Given the description of an element on the screen output the (x, y) to click on. 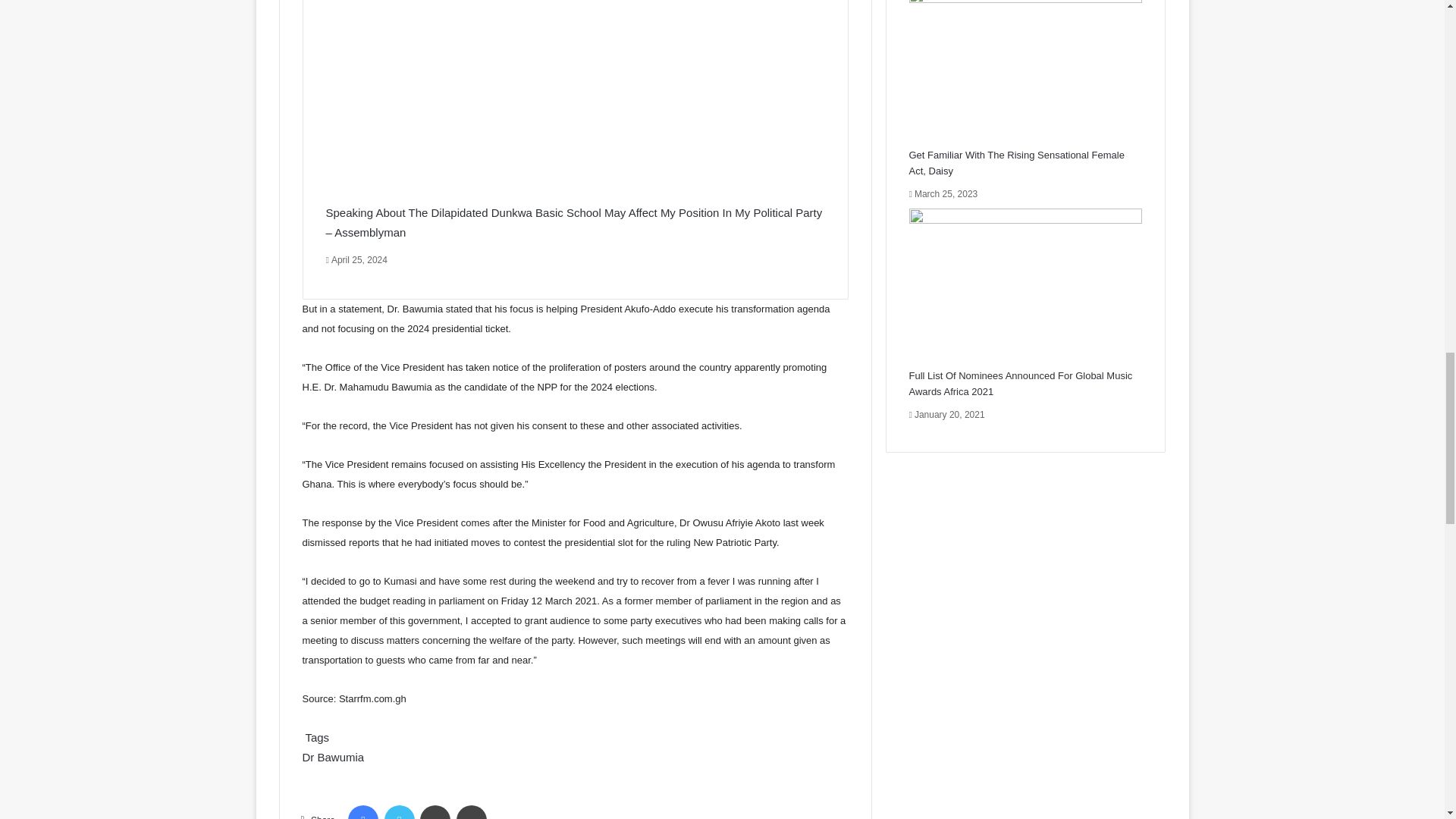
Facebook (362, 812)
Twitter (399, 812)
Facebook (362, 812)
Twitter (399, 812)
Dr Bawumia (332, 757)
LinkedIn (434, 812)
Pinterest (471, 812)
